Given the description of an element on the screen output the (x, y) to click on. 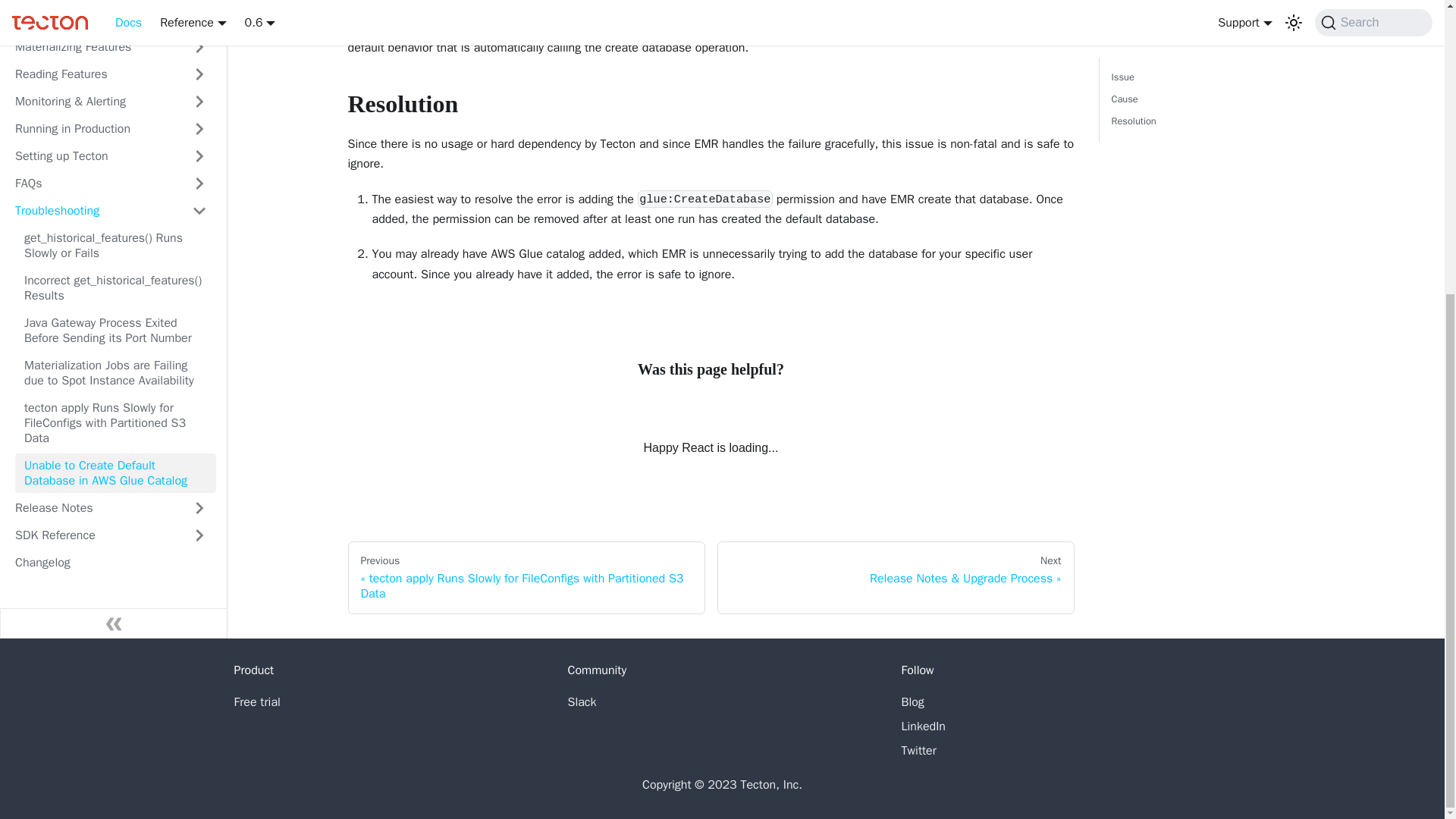
Collapse sidebar (113, 352)
